Given the description of an element on the screen output the (x, y) to click on. 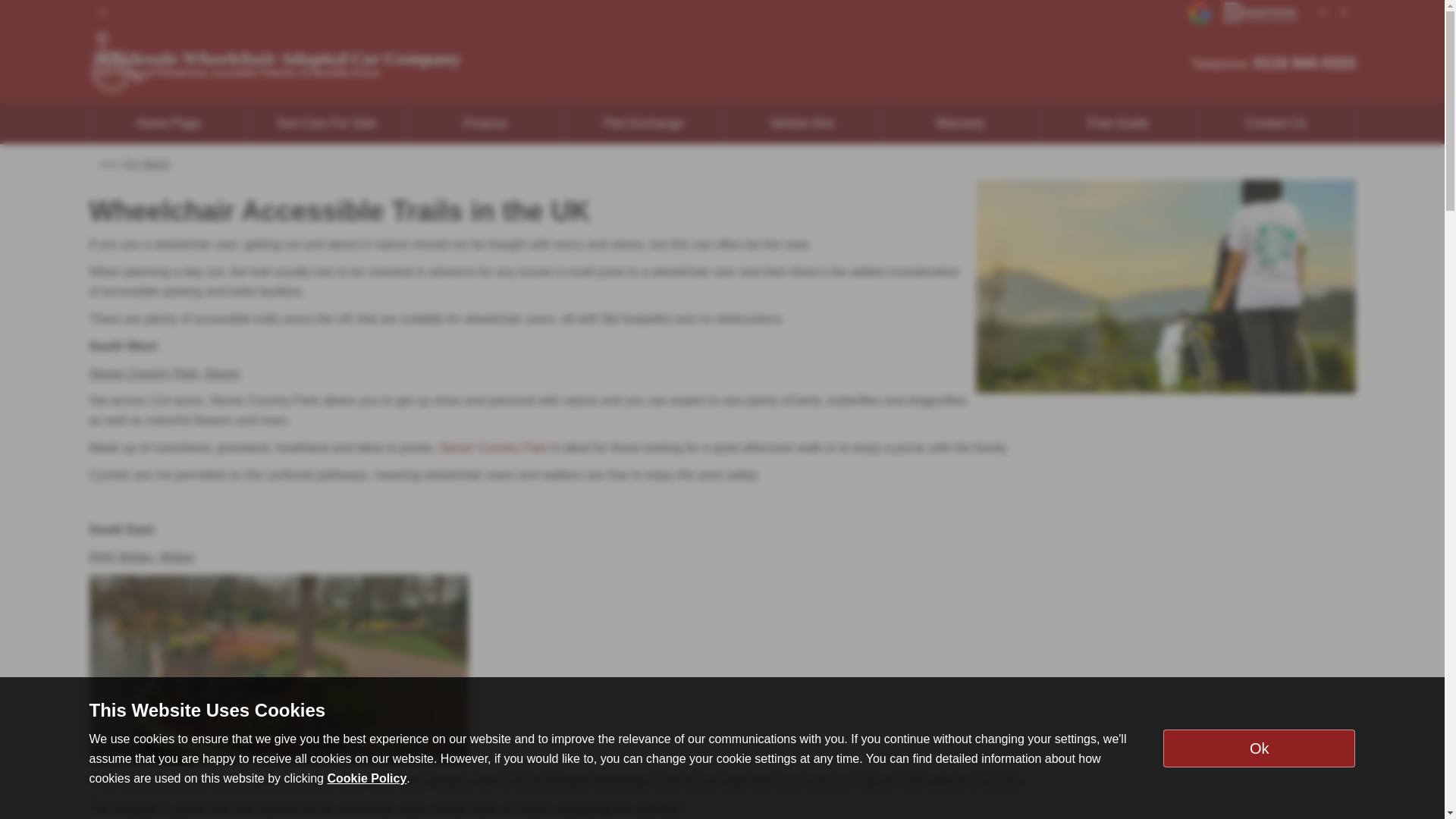
Warranty (959, 123)
Home Page (167, 123)
Contact Us (1276, 123)
0115 944 0333 (1304, 62)
Finance (485, 123)
Free Guide (1117, 123)
See Cars For Sale (326, 123)
Part Exchange (643, 123)
some features (812, 780)
Vehicle Hire (801, 123)
Stover Country Park (493, 447)
